Given the description of an element on the screen output the (x, y) to click on. 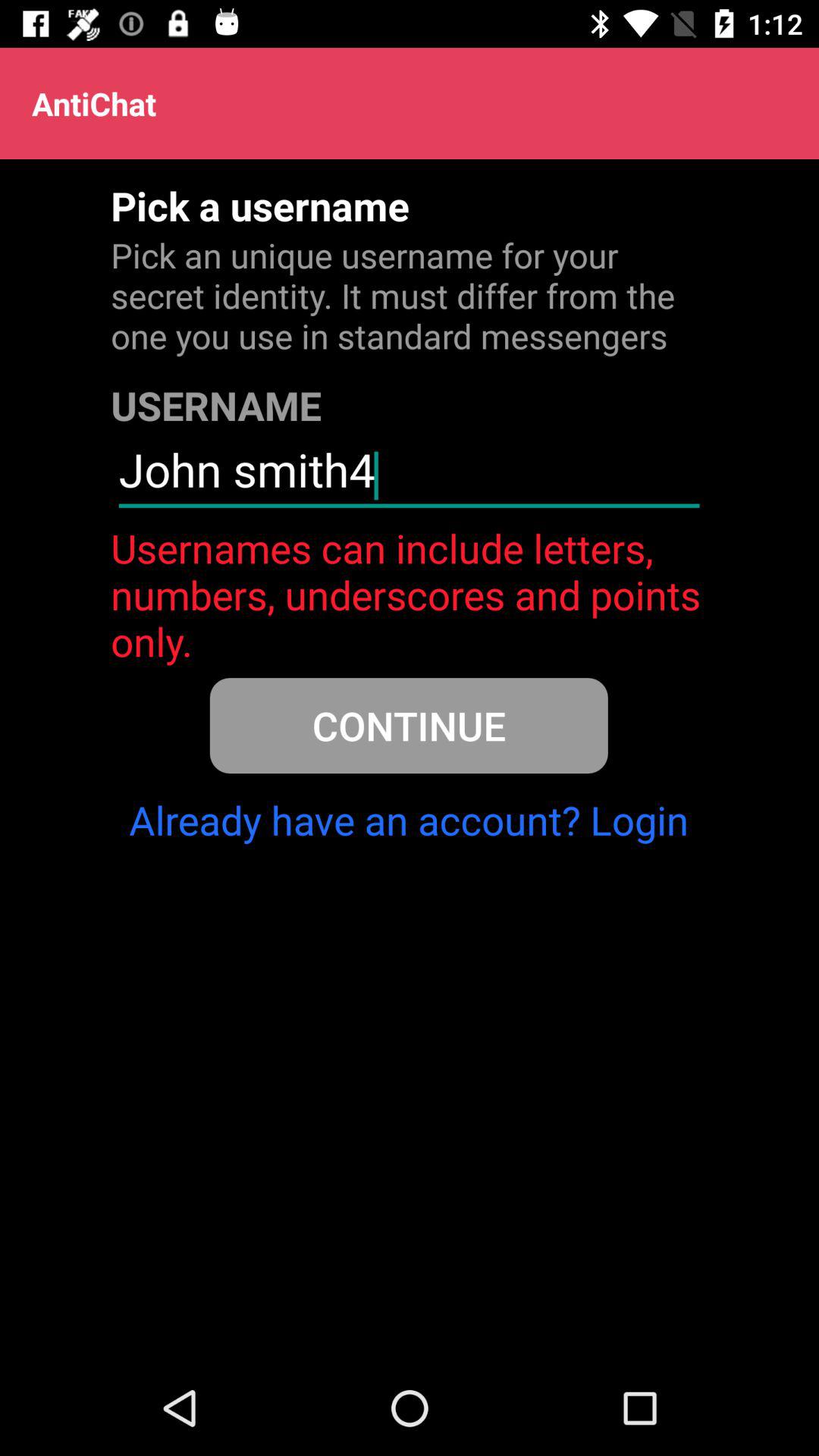
tap the already have an (408, 819)
